Given the description of an element on the screen output the (x, y) to click on. 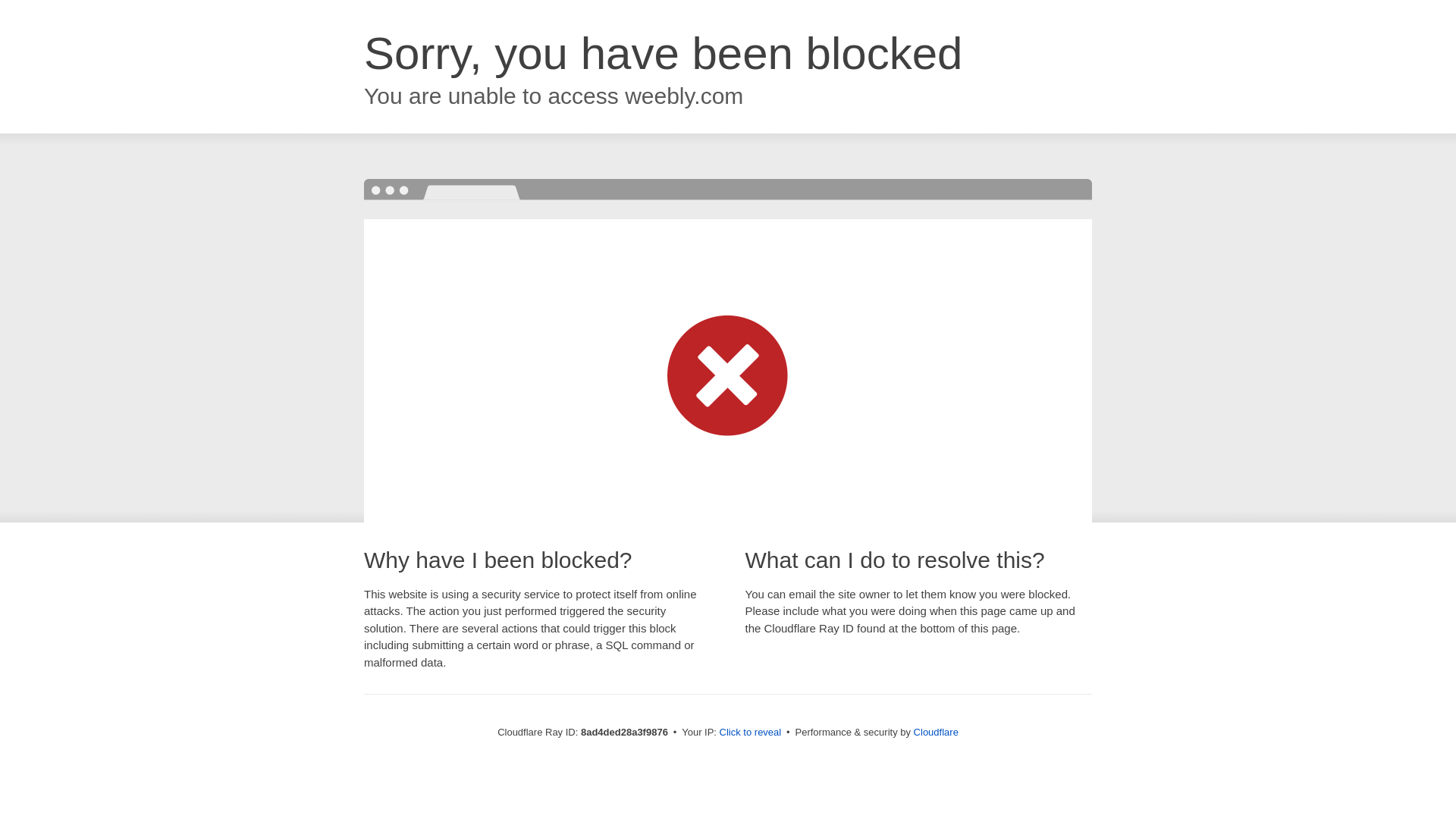
Cloudflare (936, 731)
Click to reveal (750, 732)
